Given the description of an element on the screen output the (x, y) to click on. 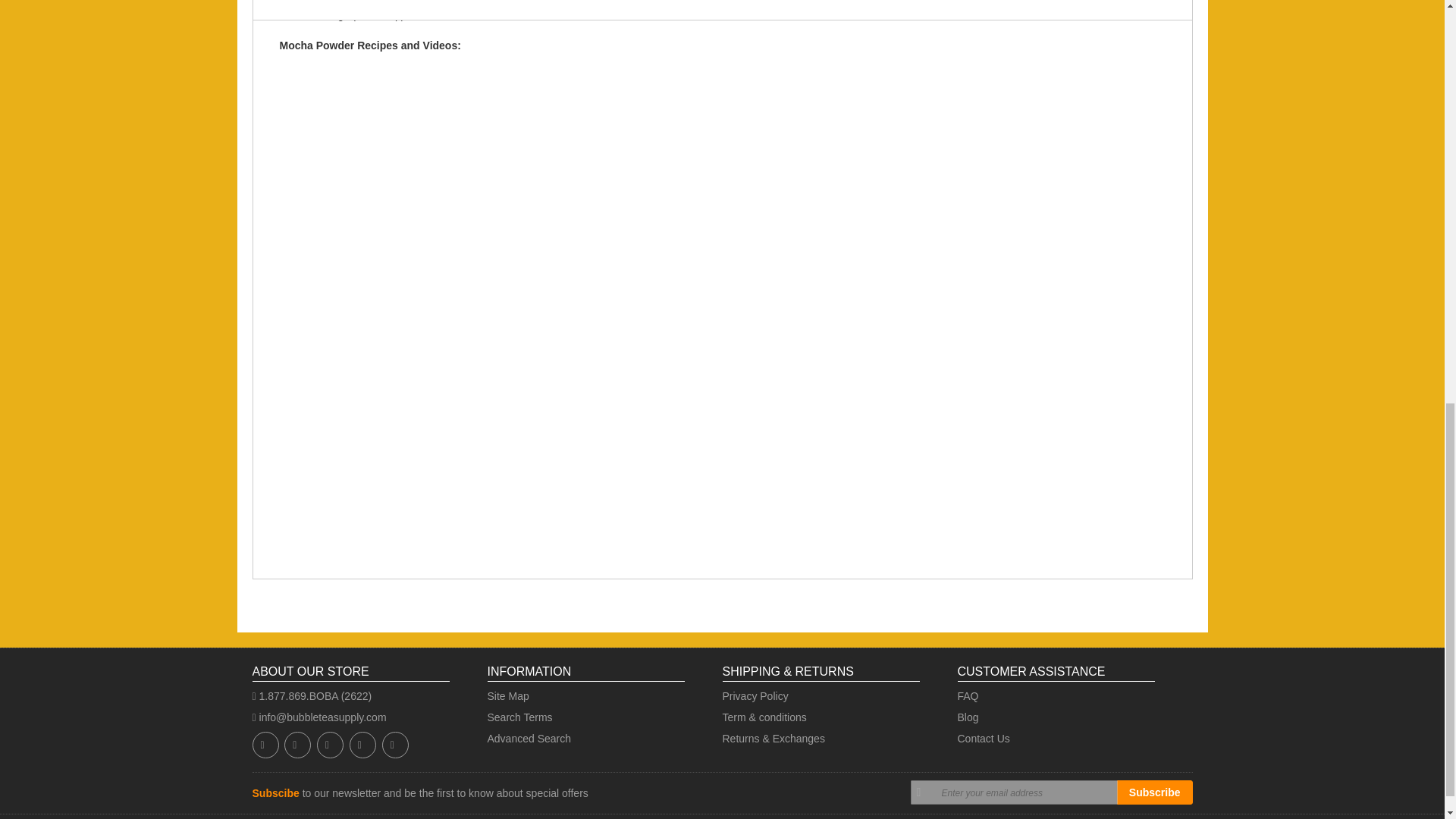
Subscribe (1154, 792)
